Given the description of an element on the screen output the (x, y) to click on. 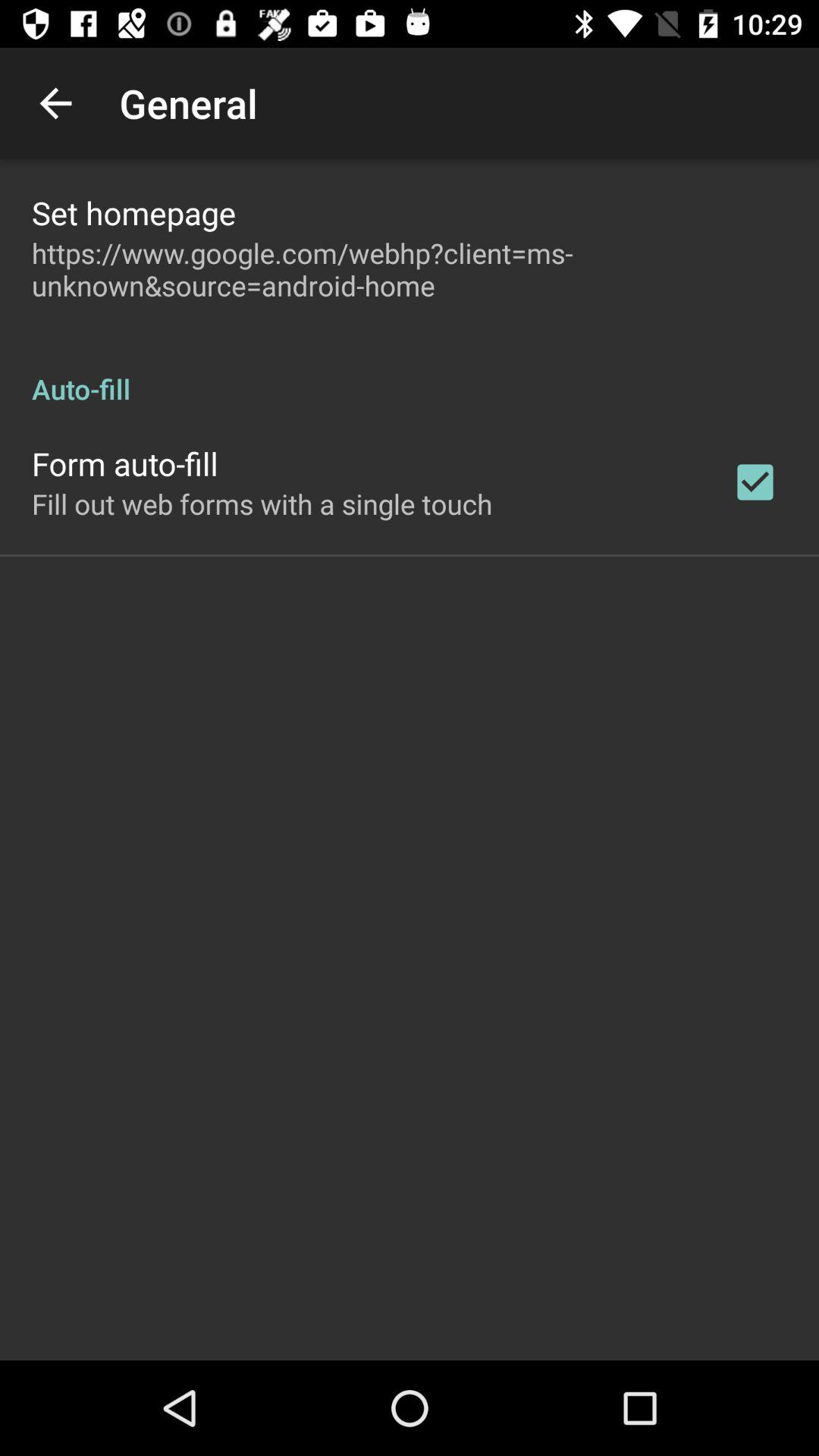
launch item above the https www google icon (133, 212)
